Given the description of an element on the screen output the (x, y) to click on. 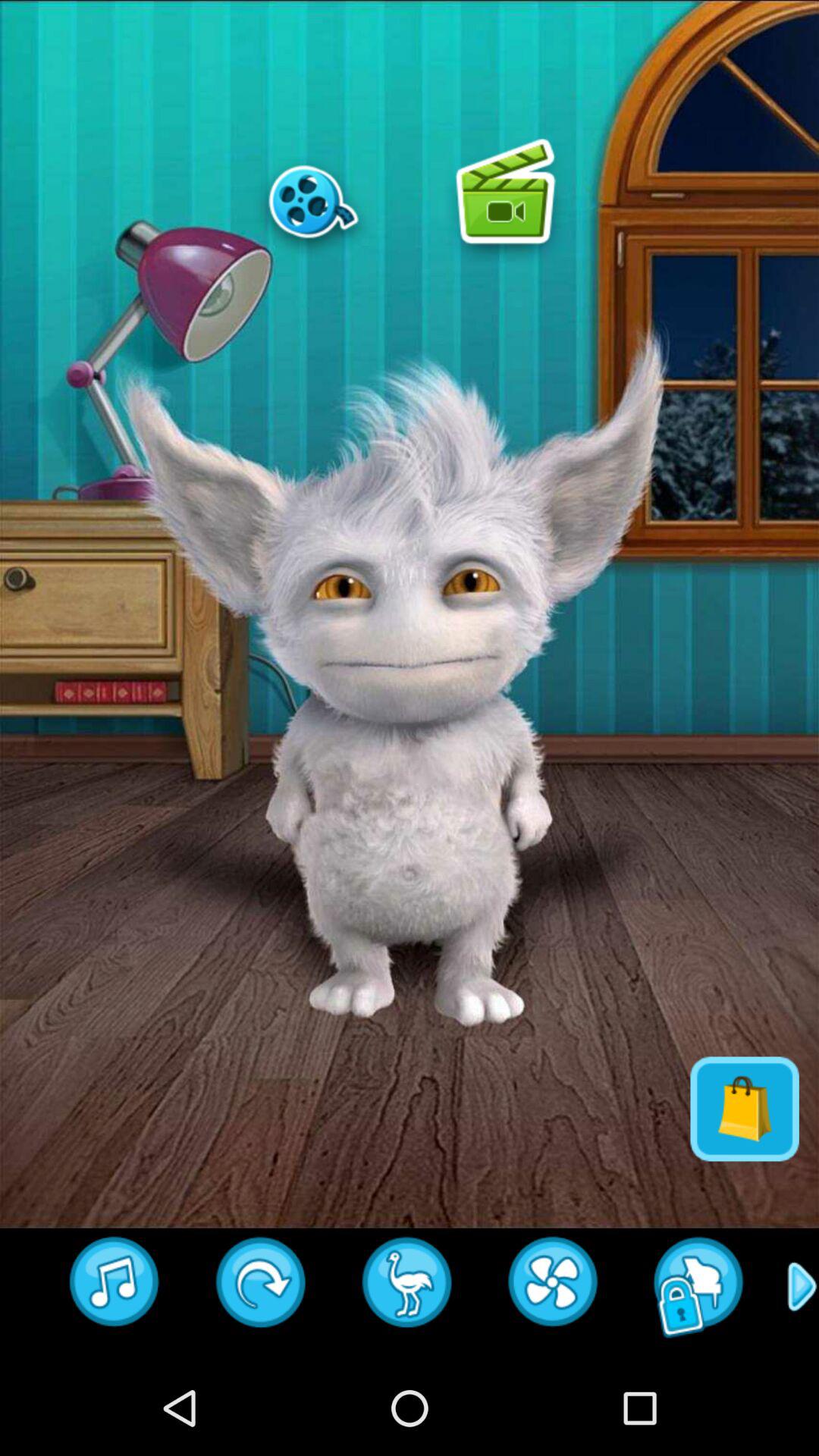
refresh page (261, 1287)
